Given the description of an element on the screen output the (x, y) to click on. 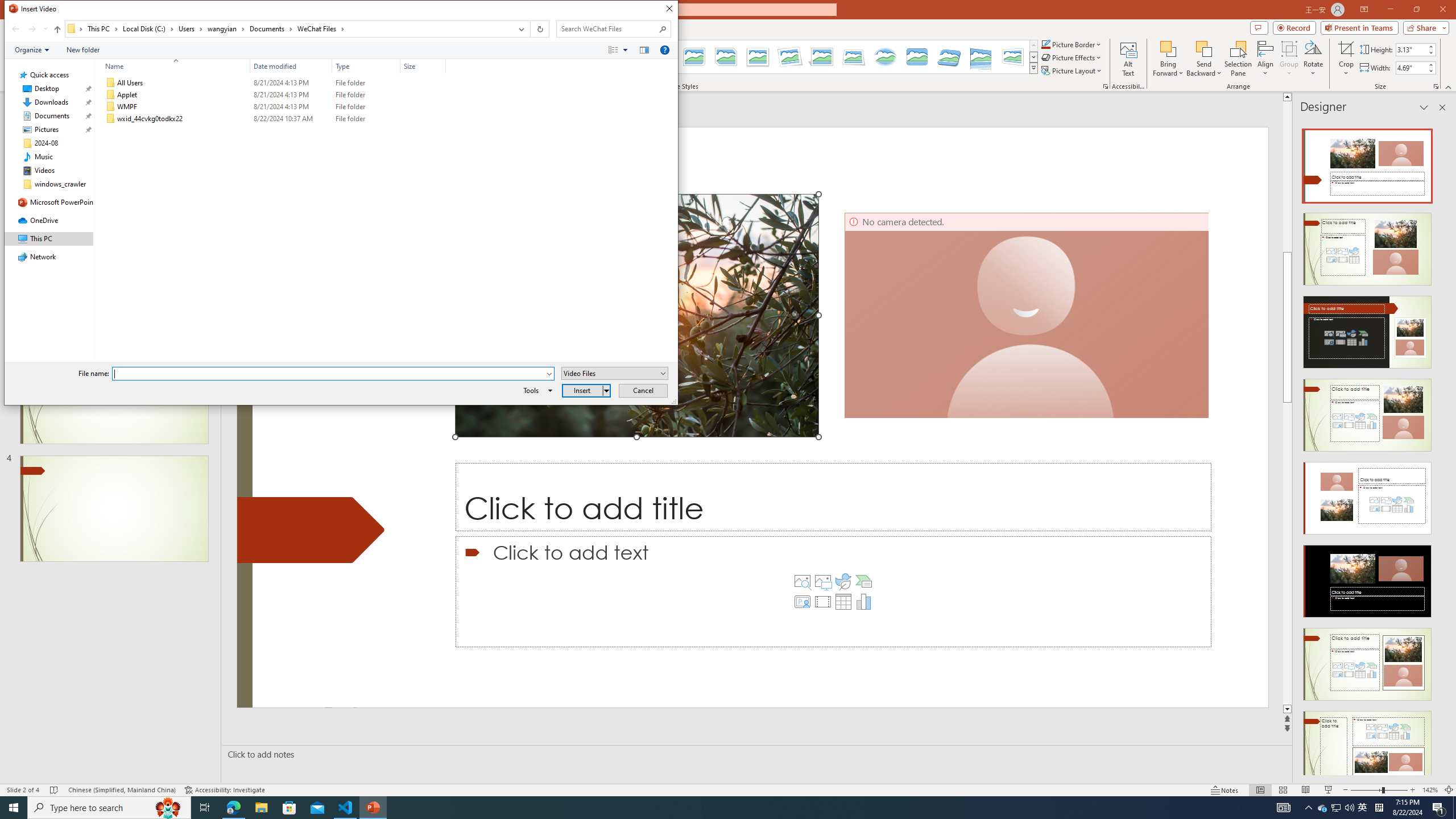
Bevel Perspective Left, White (1013, 56)
Align (1264, 58)
Crop (1345, 48)
Up band toolbar (57, 30)
Up to "Documents" (Alt + Up Arrow) (57, 29)
Local Disk (C:) (148, 28)
Perspective Shadow, White (821, 56)
Bring Forward (1168, 48)
Applet (273, 94)
Forward (Alt + Right Arrow) (31, 28)
